Given the description of an element on the screen output the (x, y) to click on. 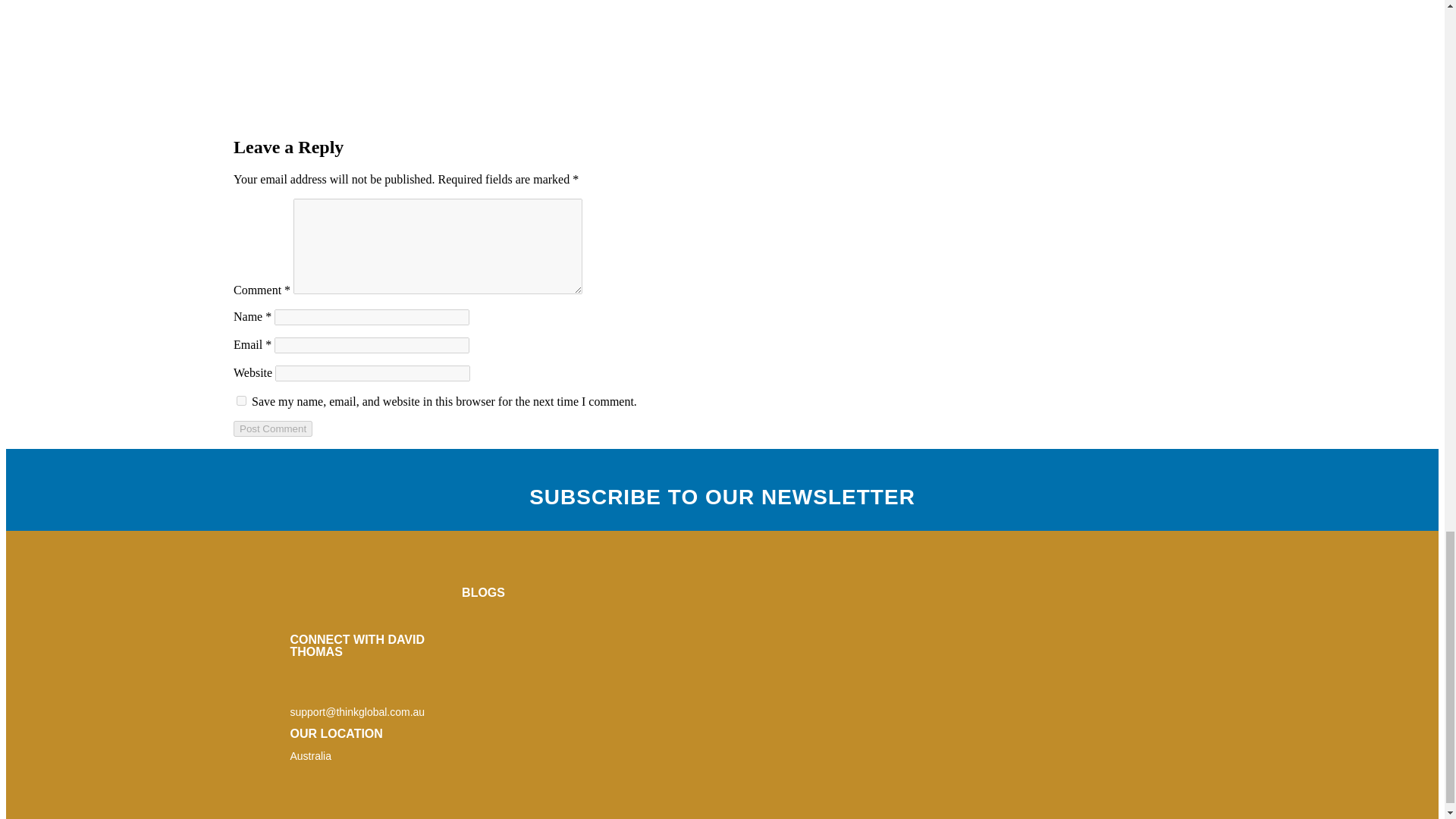
Australia (309, 756)
yes (240, 400)
Post Comment (272, 428)
Post Comment (272, 428)
